Given the description of an element on the screen output the (x, y) to click on. 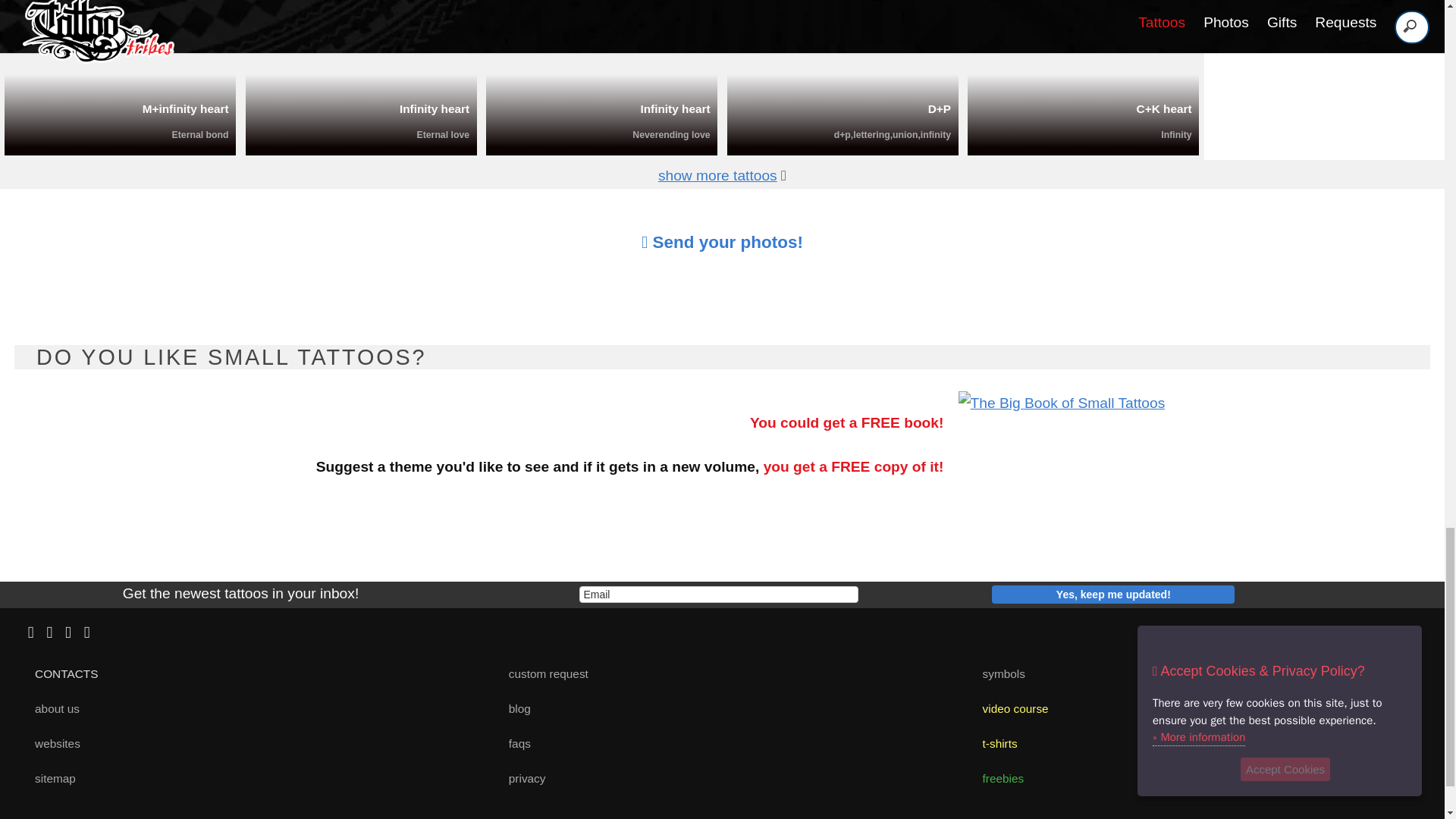
Artists contacts (61, 673)
About us (51, 707)
Polynesian Tattoos 101 video course (1009, 707)
Polynesian tattoo symbols wiki (998, 673)
Frequently Asked Questions (512, 743)
Our websites (51, 743)
TattooTribes blog (512, 707)
Privacy policy (520, 778)
Custom tattoo requests (542, 673)
sitemap (49, 778)
